Given the description of an element on the screen output the (x, y) to click on. 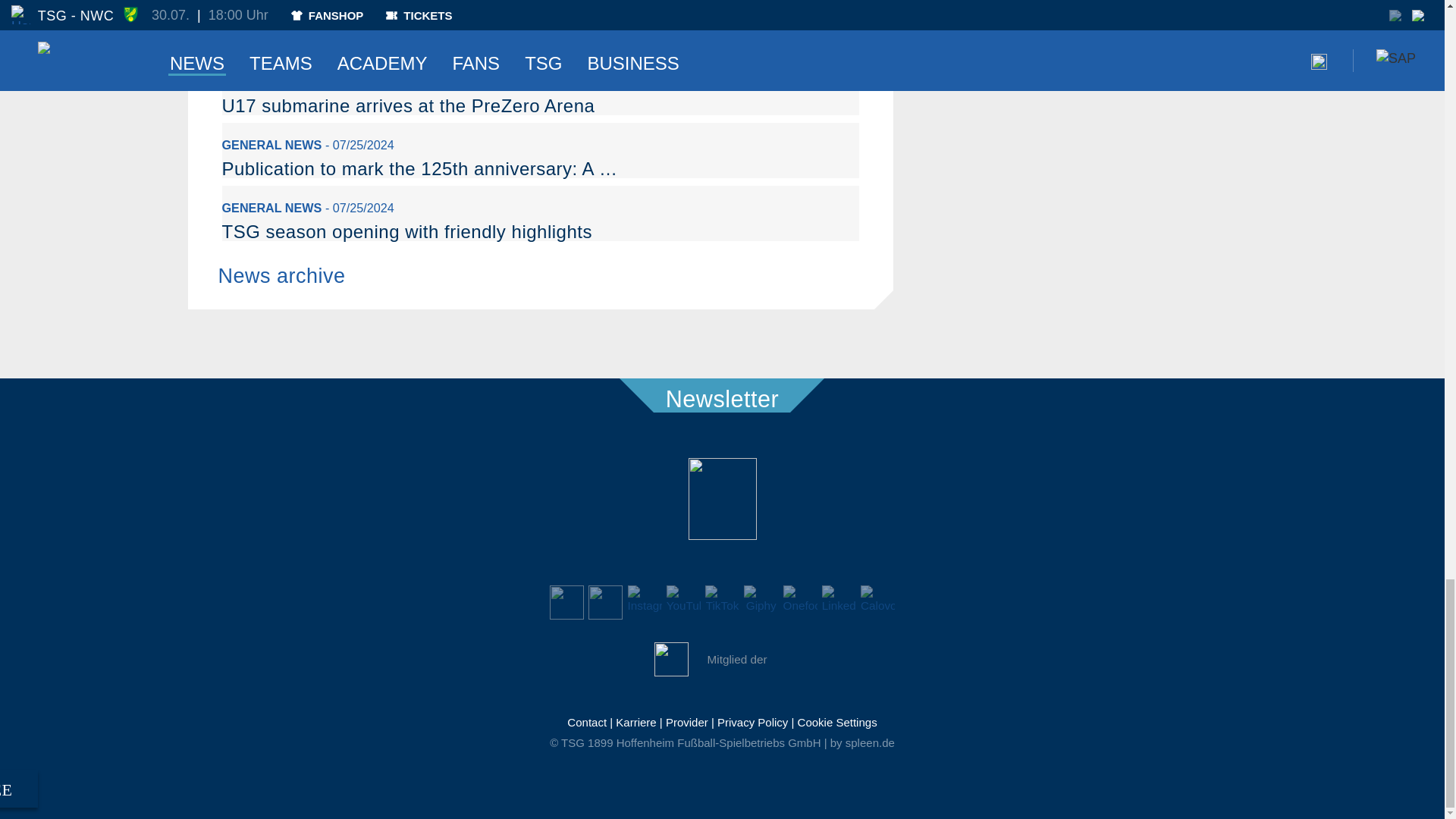
Cookie Settings (837, 721)
